Given the description of an element on the screen output the (x, y) to click on. 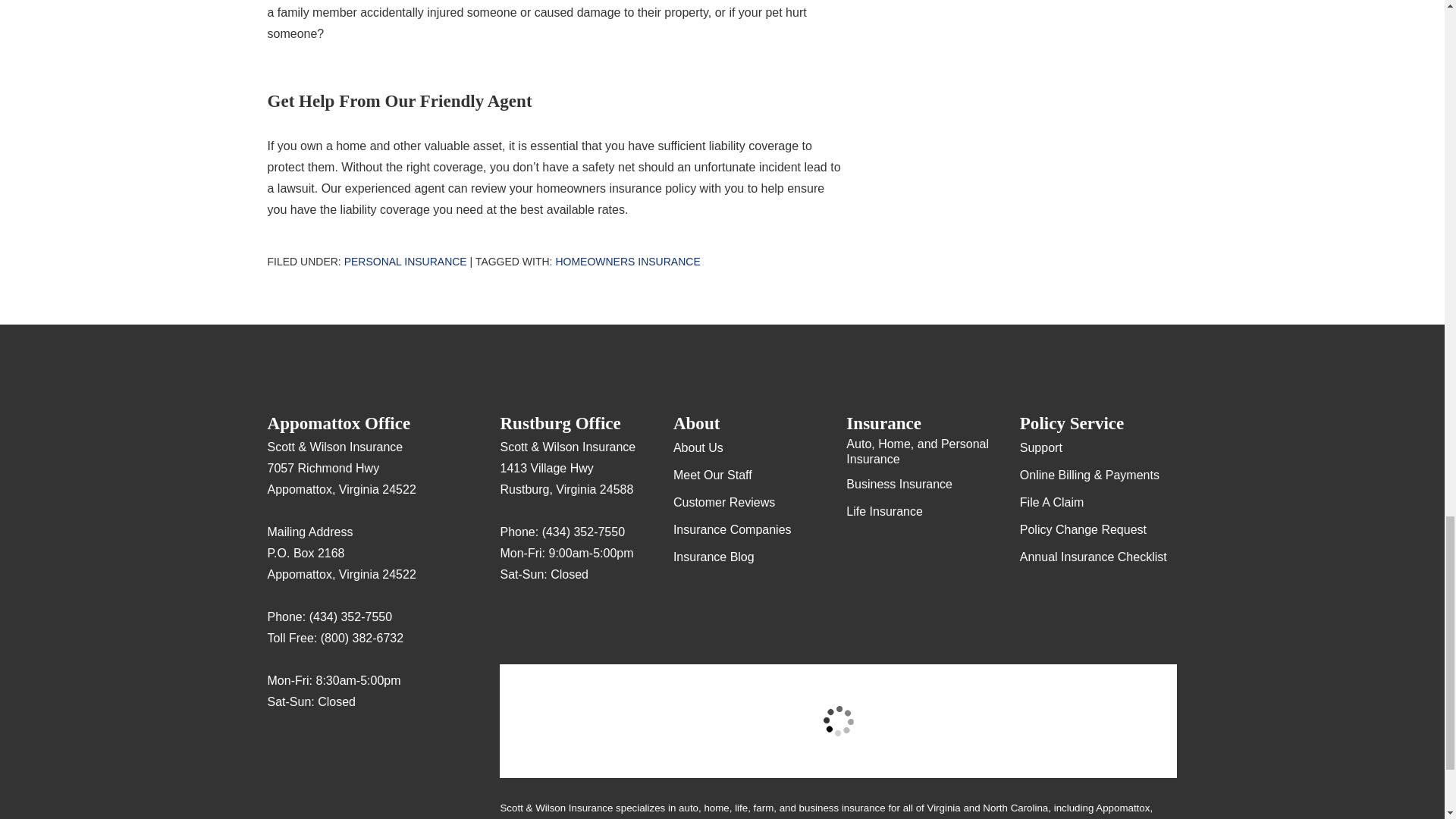
Google Maps (278, 746)
Yelp (309, 746)
Facebook (338, 746)
Homeowners Insurance (627, 261)
Personal Insurance (405, 261)
Google Maps (511, 619)
